Given the description of an element on the screen output the (x, y) to click on. 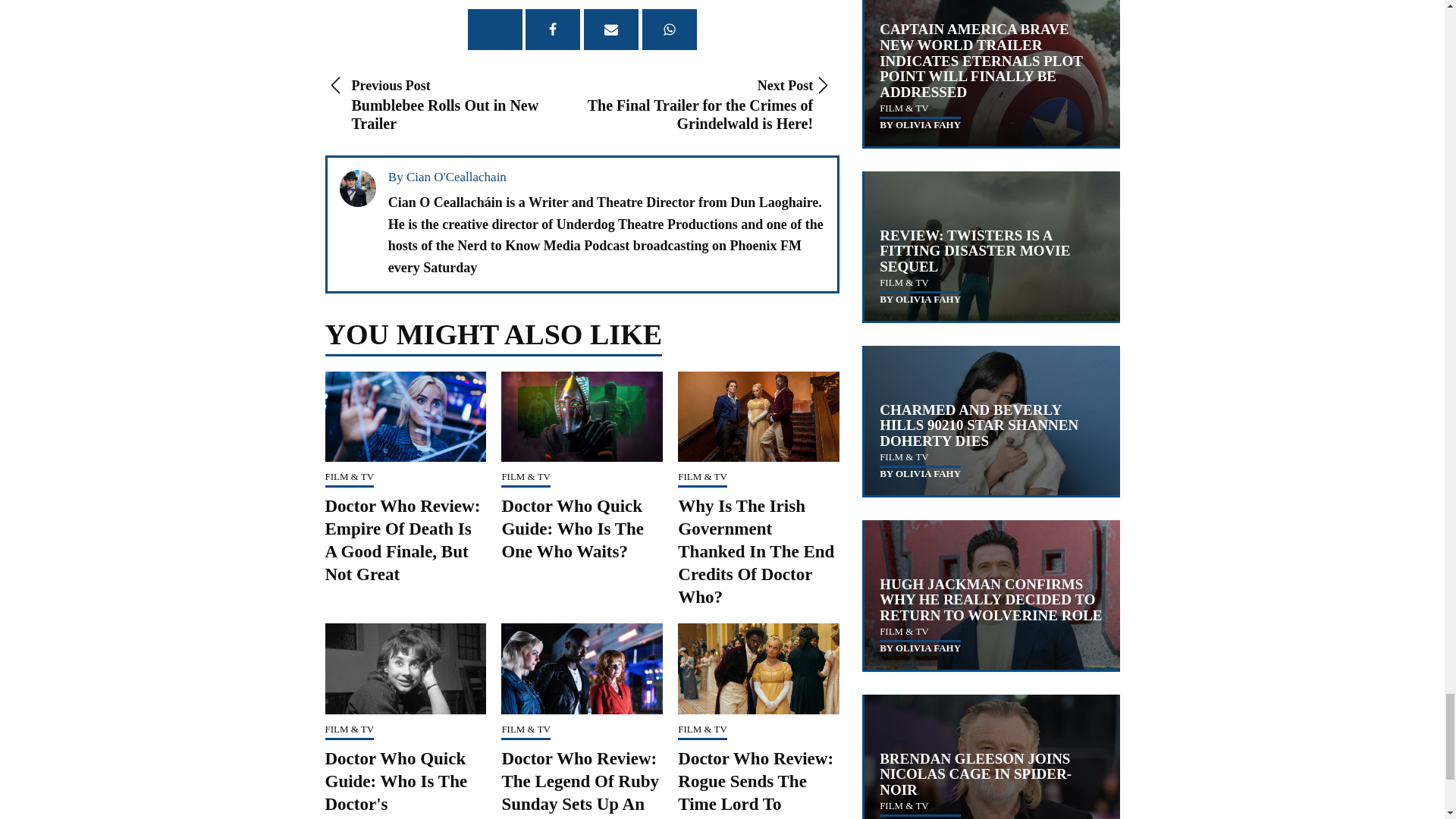
Doctor Who Review: Rogue Sends The Time Lord To Bridgerton (452, 104)
Doctor Who Quick Guide: Who Is The One Who Waits? (755, 784)
